Given the description of an element on the screen output the (x, y) to click on. 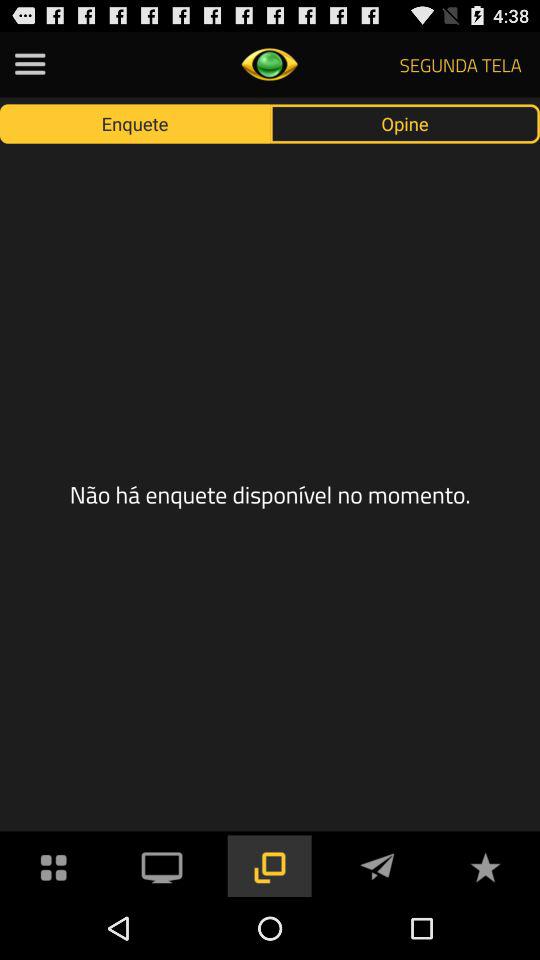
save to favorites (485, 865)
